Given the description of an element on the screen output the (x, y) to click on. 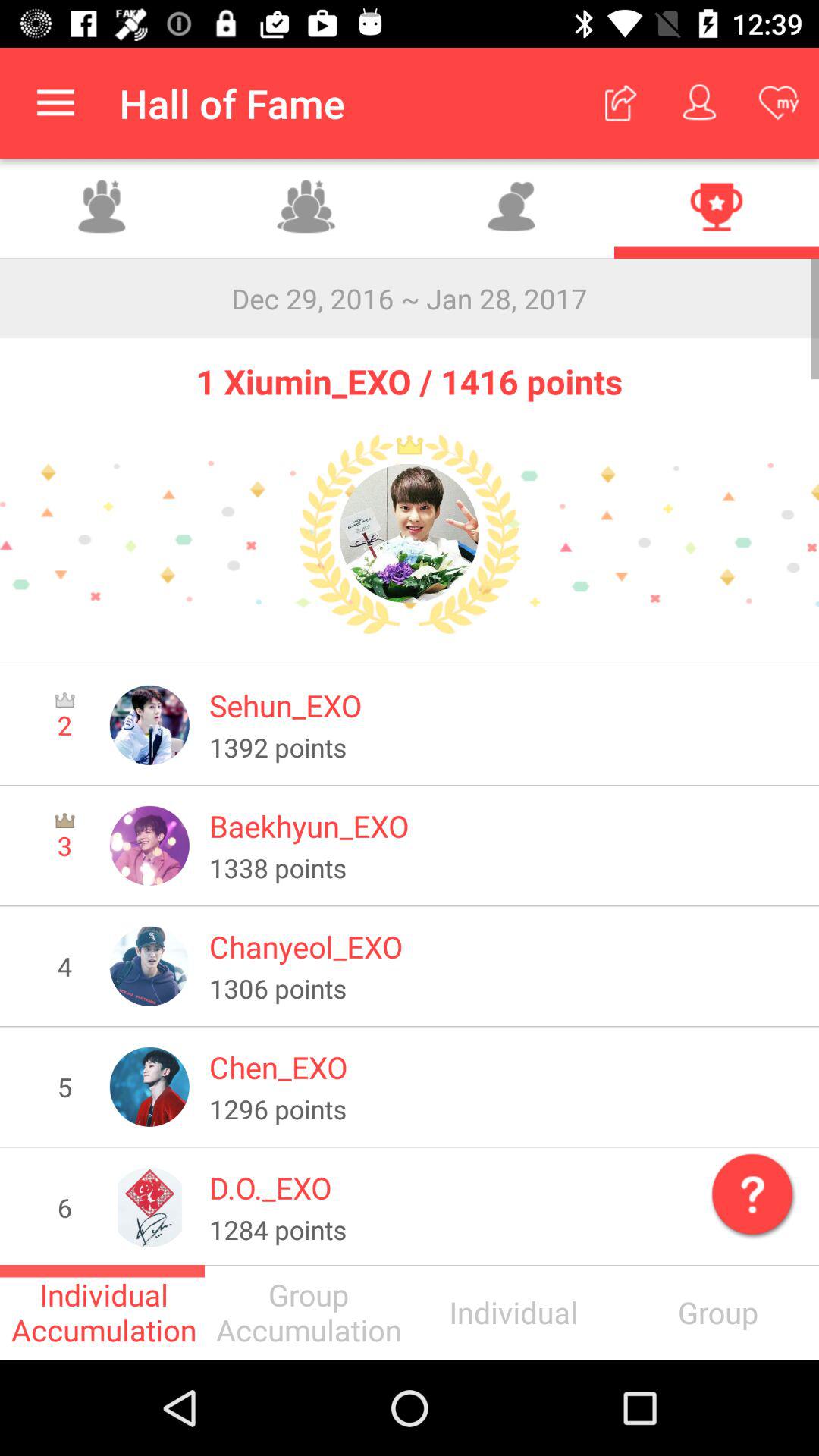
click 1 xiuminexo (409, 534)
click on the text left to group (511, 1312)
click on the text just below  mark (716, 1312)
click on second image from botttom (149, 1086)
